Given the description of an element on the screen output the (x, y) to click on. 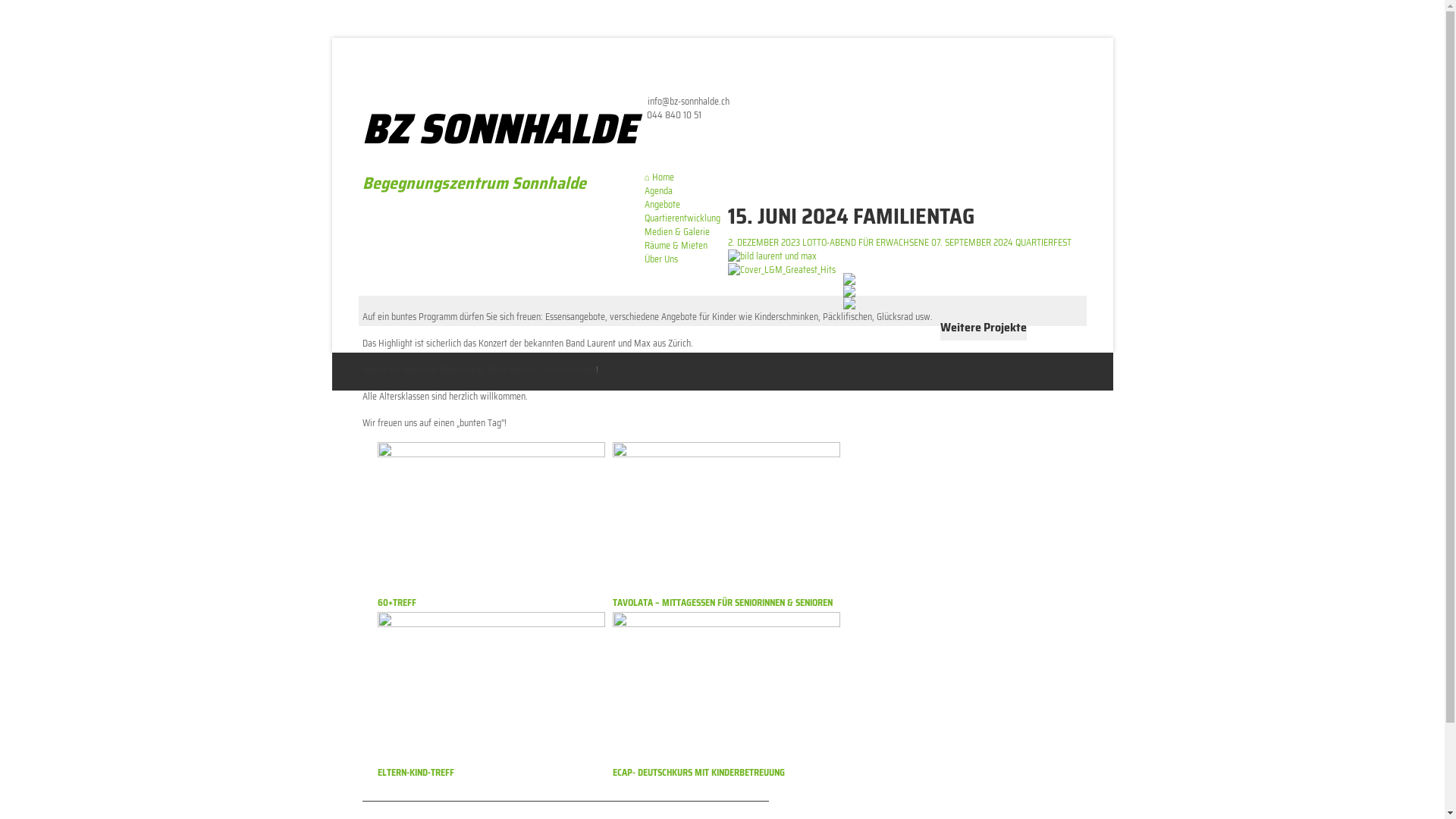
Agenda Element type: text (658, 190)
bild laurent und max Element type: hover (781, 256)
Medien & Galerie Element type: text (676, 231)
60+TREFF Element type: text (396, 602)
Angebote Element type: text (662, 204)
07. SEPTEMBER 2024 QUARTIERFEST Element type: text (1001, 242)
info@bz-sonnhalde.ch Element type: text (688, 101)
Cover_L&M_Greatest_Hits Element type: hover (781, 269)
ELTERN-KIND-TREFF Element type: text (415, 772)
Quartierentwicklung Element type: text (682, 217)
BZ SONNHALDE Element type: text (499, 128)
ECAP- DEUTSCHKURS MIT KINDERBETREUUNG Element type: text (698, 772)
